Given the description of an element on the screen output the (x, y) to click on. 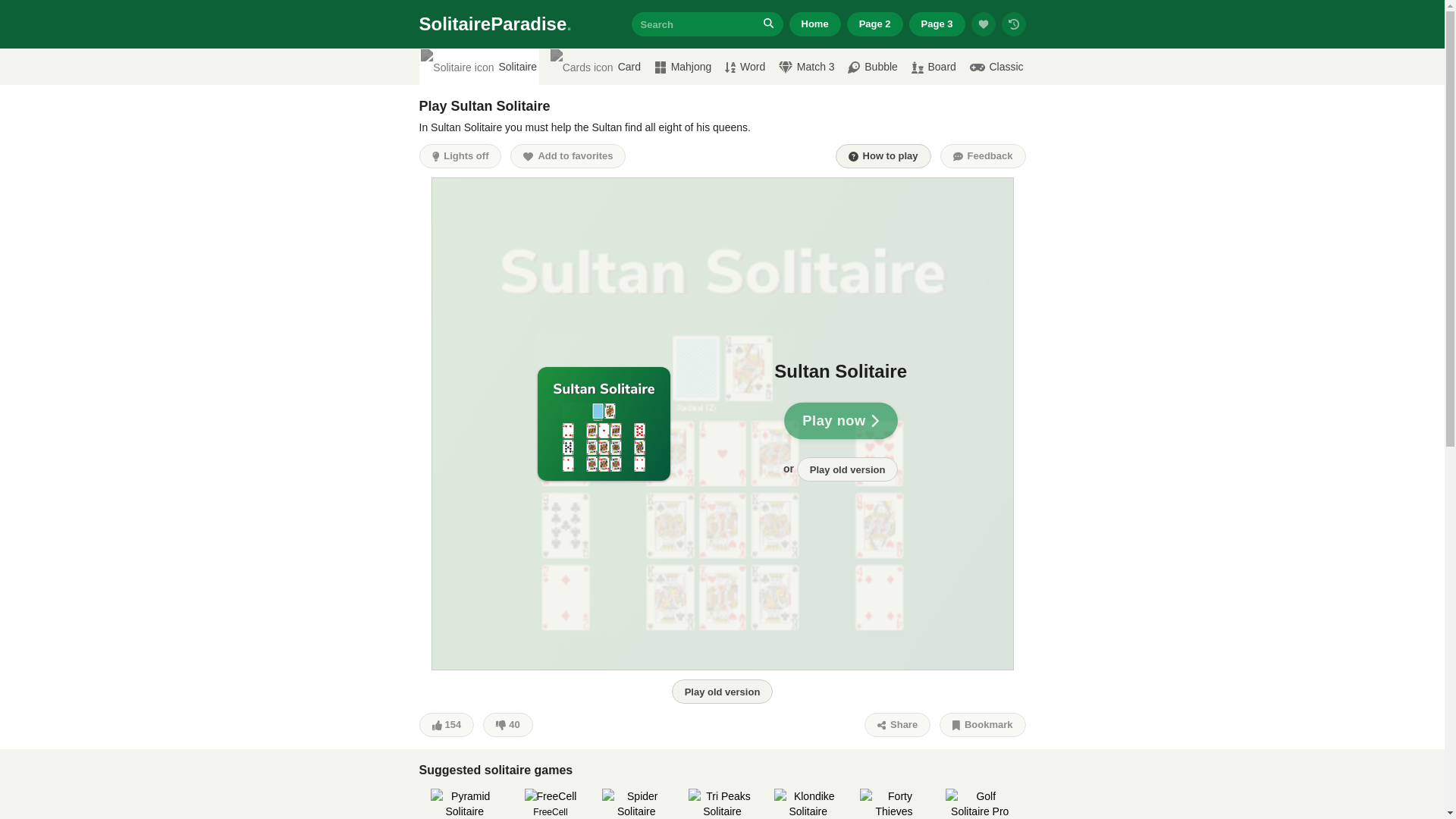
Play old version (722, 691)
Solitaire (478, 66)
Board (933, 66)
Play old version (847, 469)
Spider Solitaire (635, 803)
Play now (839, 420)
Home (815, 24)
Forty Thieves Solitaire (894, 803)
FreeCell (550, 803)
Match 3 (805, 66)
Lights off (459, 156)
Page 2 (874, 24)
SolitaireParadise. (494, 23)
Golf Solitaire Pro (978, 803)
Bubble (872, 66)
